Given the description of an element on the screen output the (x, y) to click on. 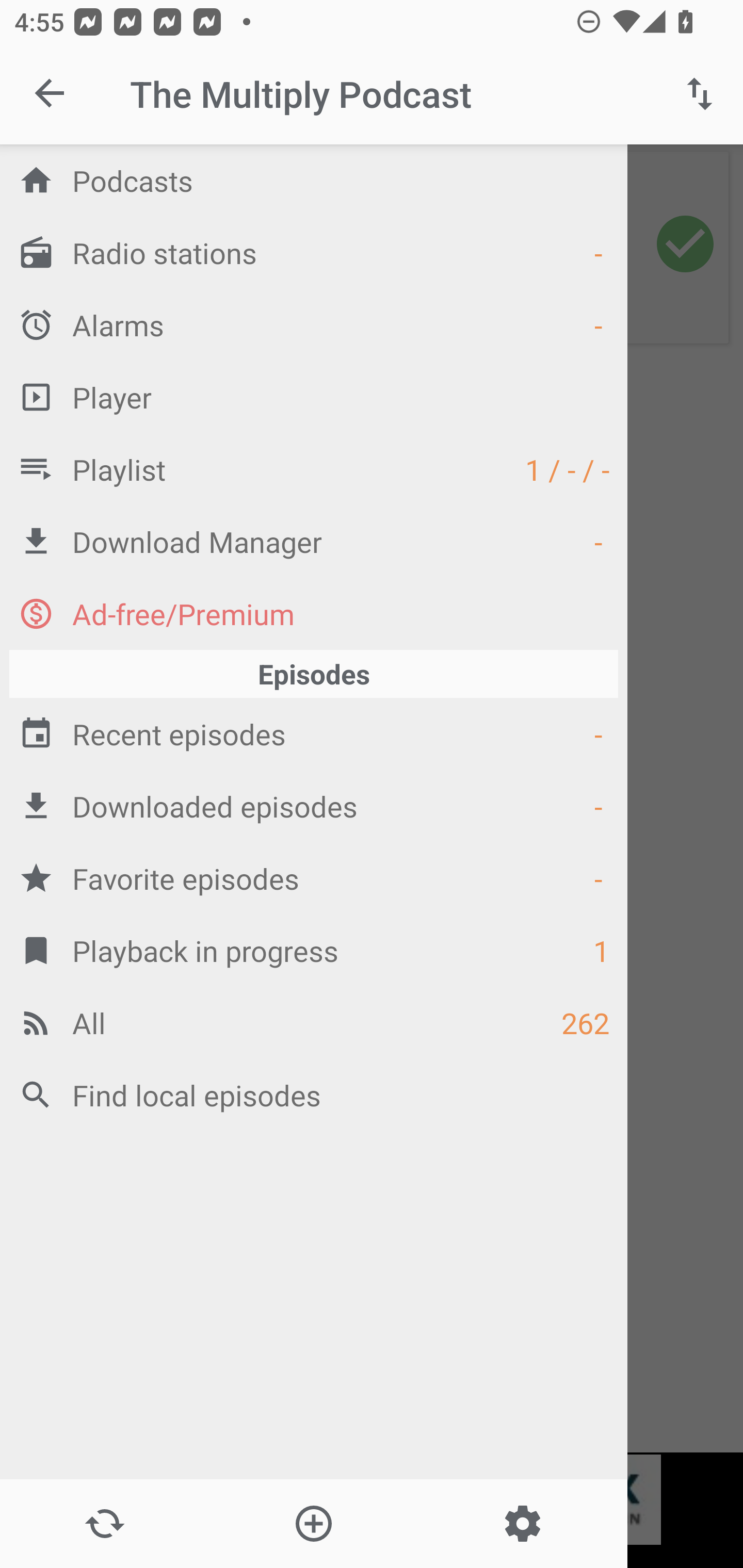
Close navigation sidebar (50, 93)
Sort (699, 93)
Podcasts (313, 180)
Radio stations  -  (313, 252)
Alarms  -  (313, 324)
Player (313, 396)
Playlist 1 / - / - (313, 468)
Download Manager  -  (313, 540)
Ad-free/Premium (313, 613)
Recent episodes  -  (313, 733)
Downloaded episodes  -  (313, 805)
Favorite episodes  -  (313, 878)
Playback in progress 1 (313, 950)
All 262 (313, 1022)
Find local episodes (313, 1094)
Update (104, 1523)
Add new Podcast (312, 1523)
Settings (522, 1523)
